Given the description of an element on the screen output the (x, y) to click on. 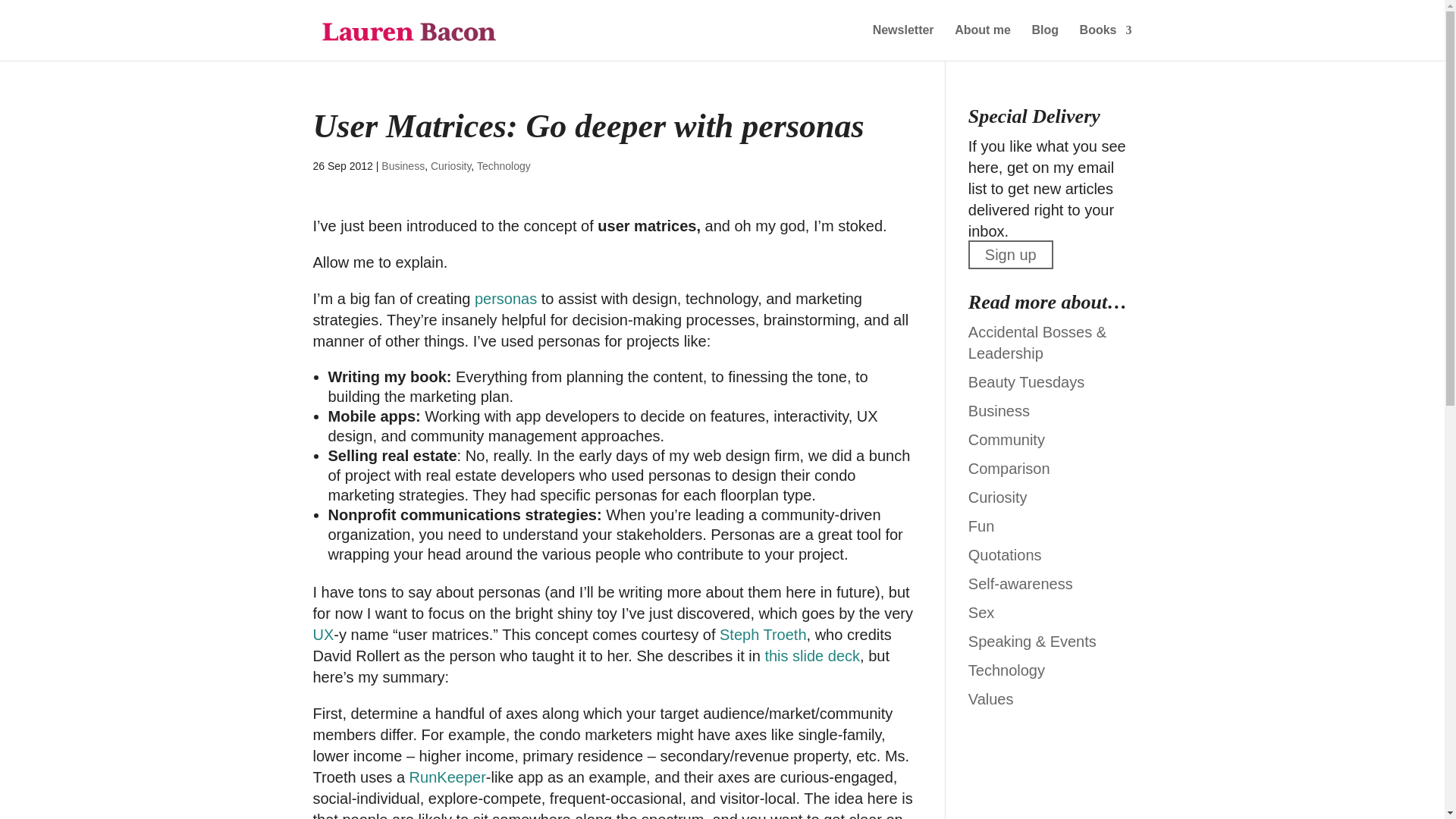
Technology (1006, 669)
Self-awareness (1020, 583)
Books (1106, 42)
Curiosity (997, 497)
Values (990, 699)
Business (403, 165)
Curiosity (450, 165)
Fun (981, 525)
personas (505, 298)
Beauty Tuesdays (1026, 381)
UX (323, 634)
About me (982, 42)
Sign up (1010, 254)
RunKeeper (447, 777)
Technology (504, 165)
